Given the description of an element on the screen output the (x, y) to click on. 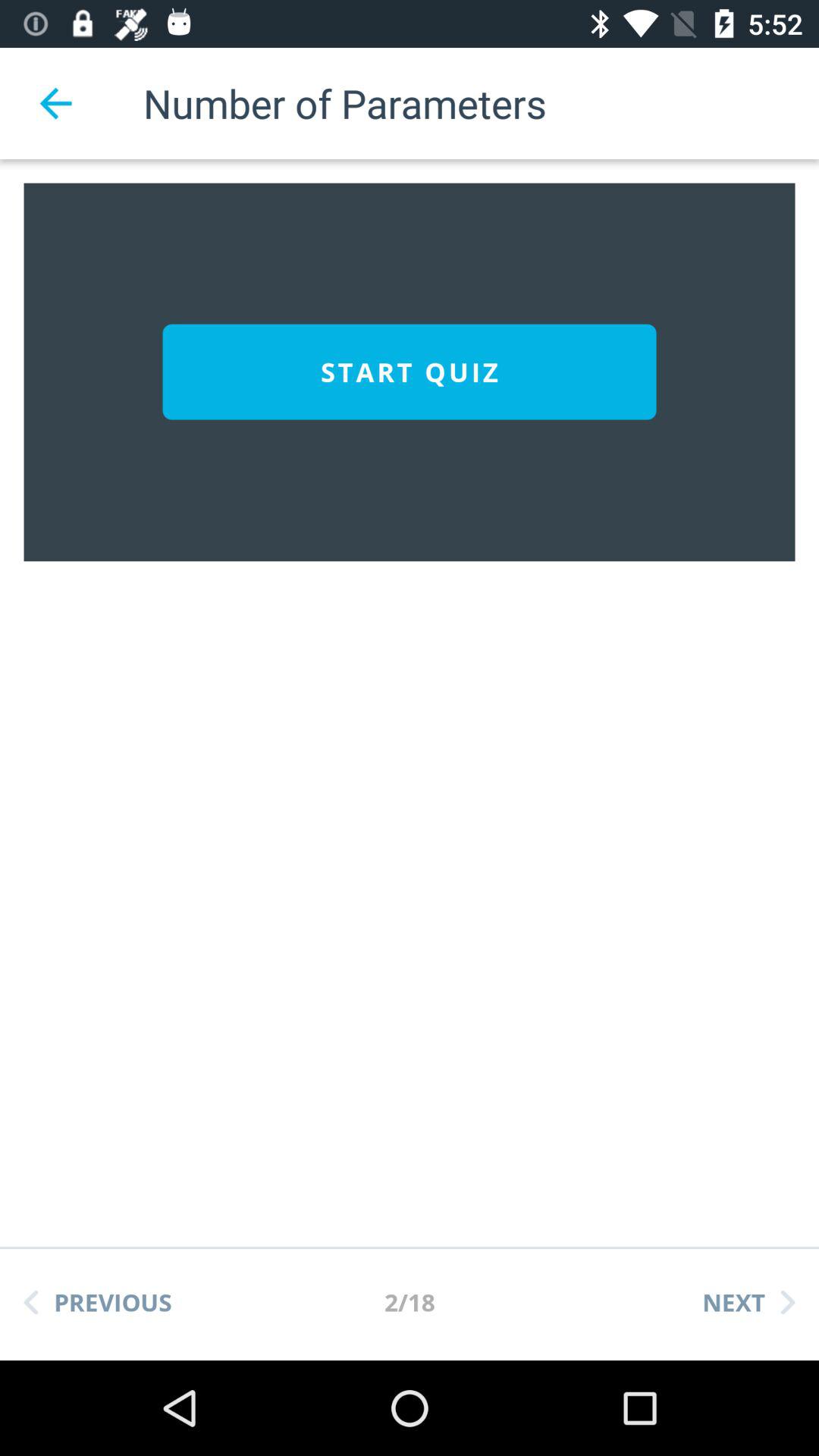
flip to previous item (97, 1302)
